Given the description of an element on the screen output the (x, y) to click on. 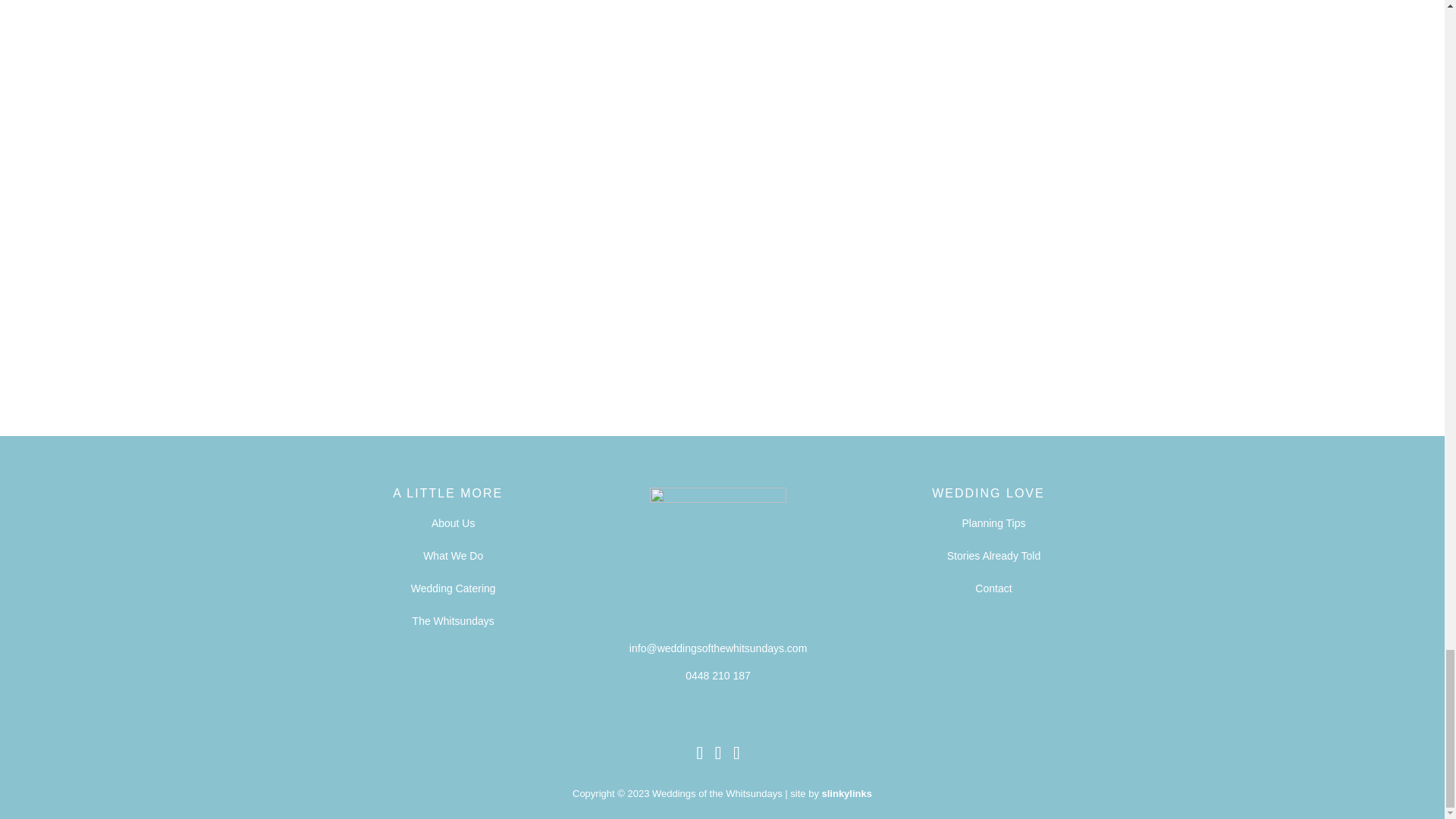
SEND (355, 310)
What We Do (453, 555)
About Us (453, 522)
